Given the description of an element on the screen output the (x, y) to click on. 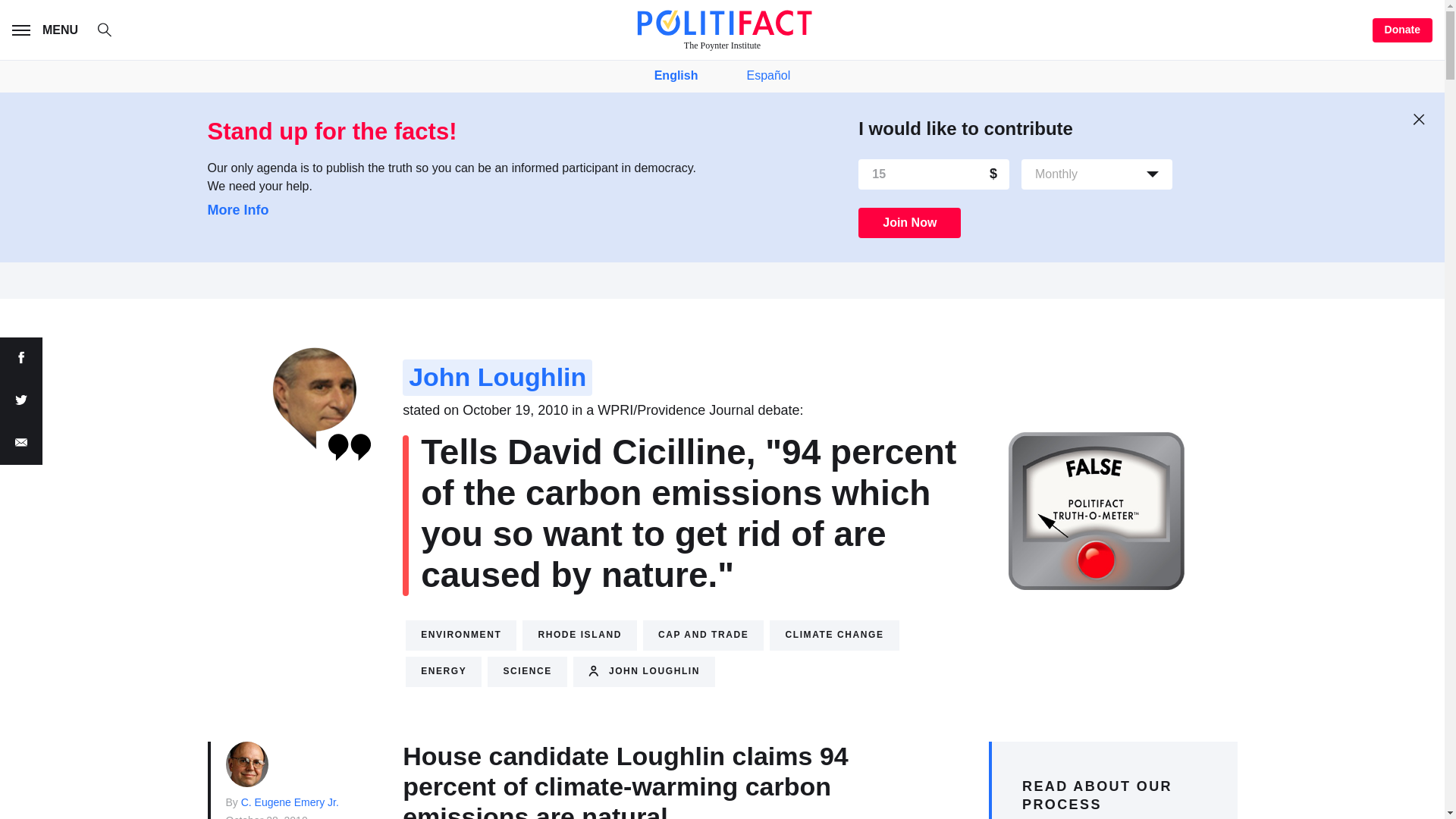
Search (111, 31)
Energy (443, 671)
John Loughlin (643, 671)
MENU (47, 30)
John Loughlin (497, 377)
Donate (1402, 30)
The Poynter Institute (721, 29)
Cap and Trade (702, 634)
Rhode Island (579, 634)
Climate Change (834, 634)
Environment (461, 634)
Science (527, 671)
